Given the description of an element on the screen output the (x, y) to click on. 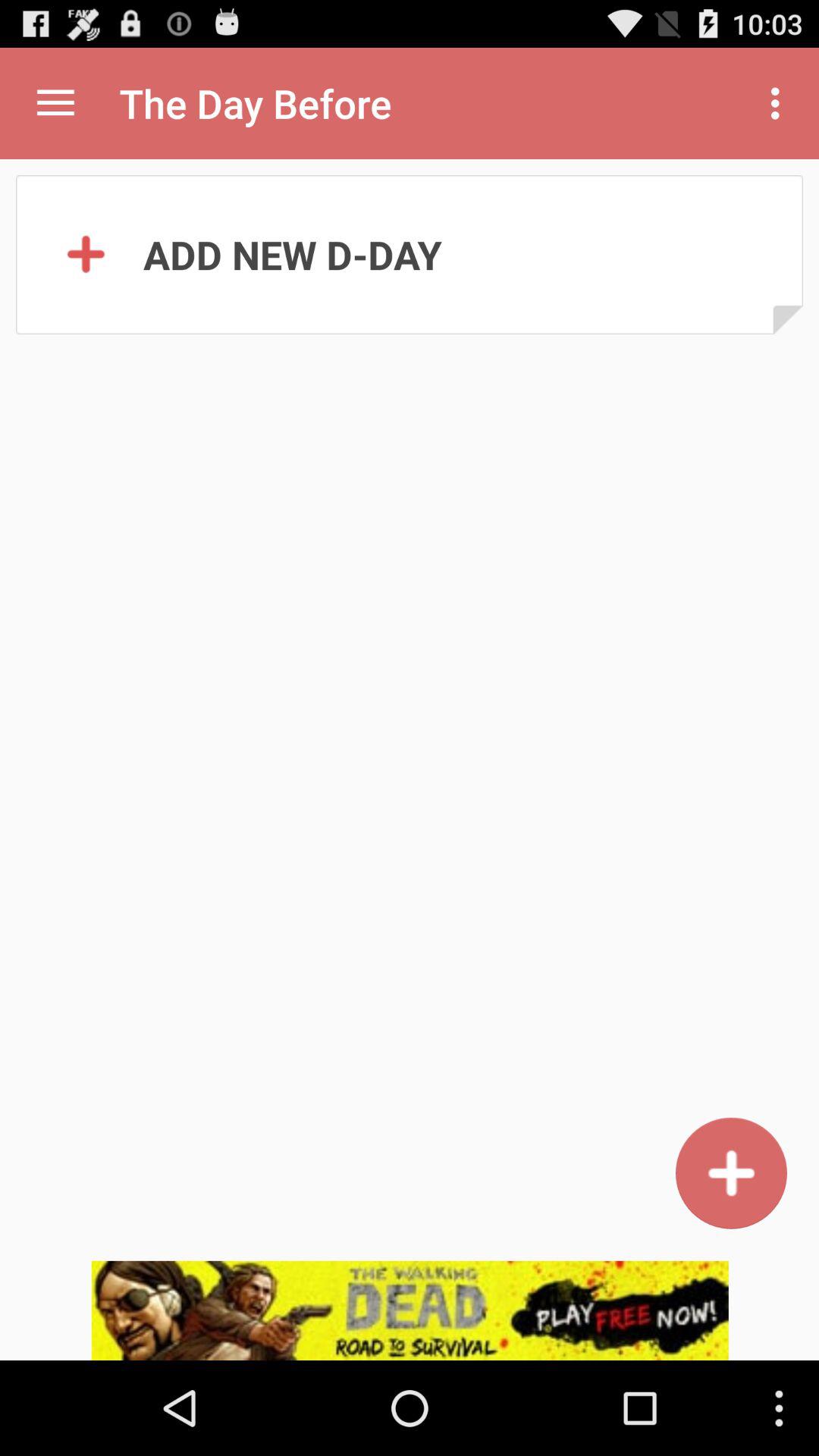
menu options (55, 103)
